Given the description of an element on the screen output the (x, y) to click on. 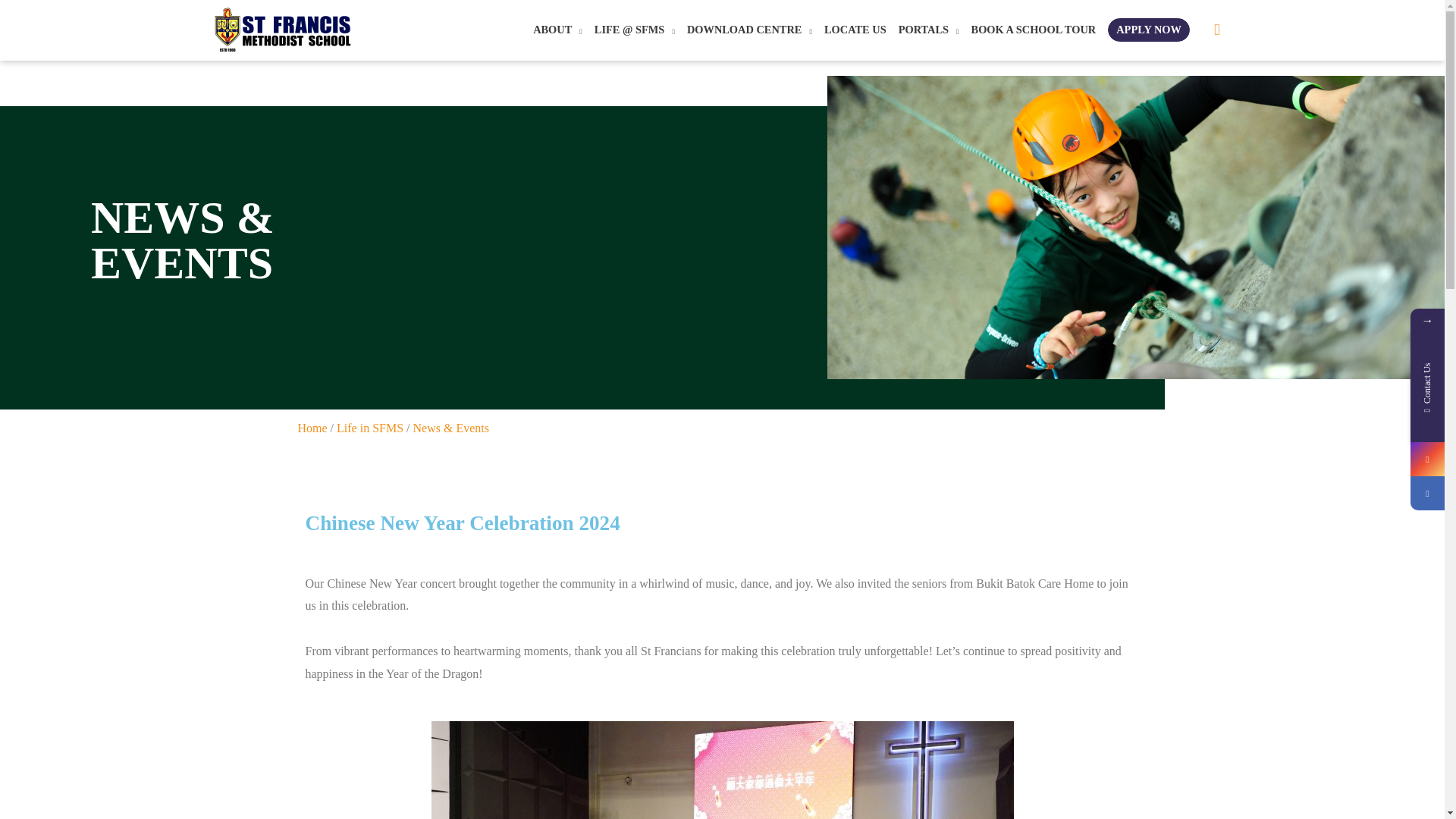
Facebook (1427, 492)
Instagram (1427, 458)
DOWNLOAD CENTRE (749, 30)
ABOUT (557, 30)
